Given the description of an element on the screen output the (x, y) to click on. 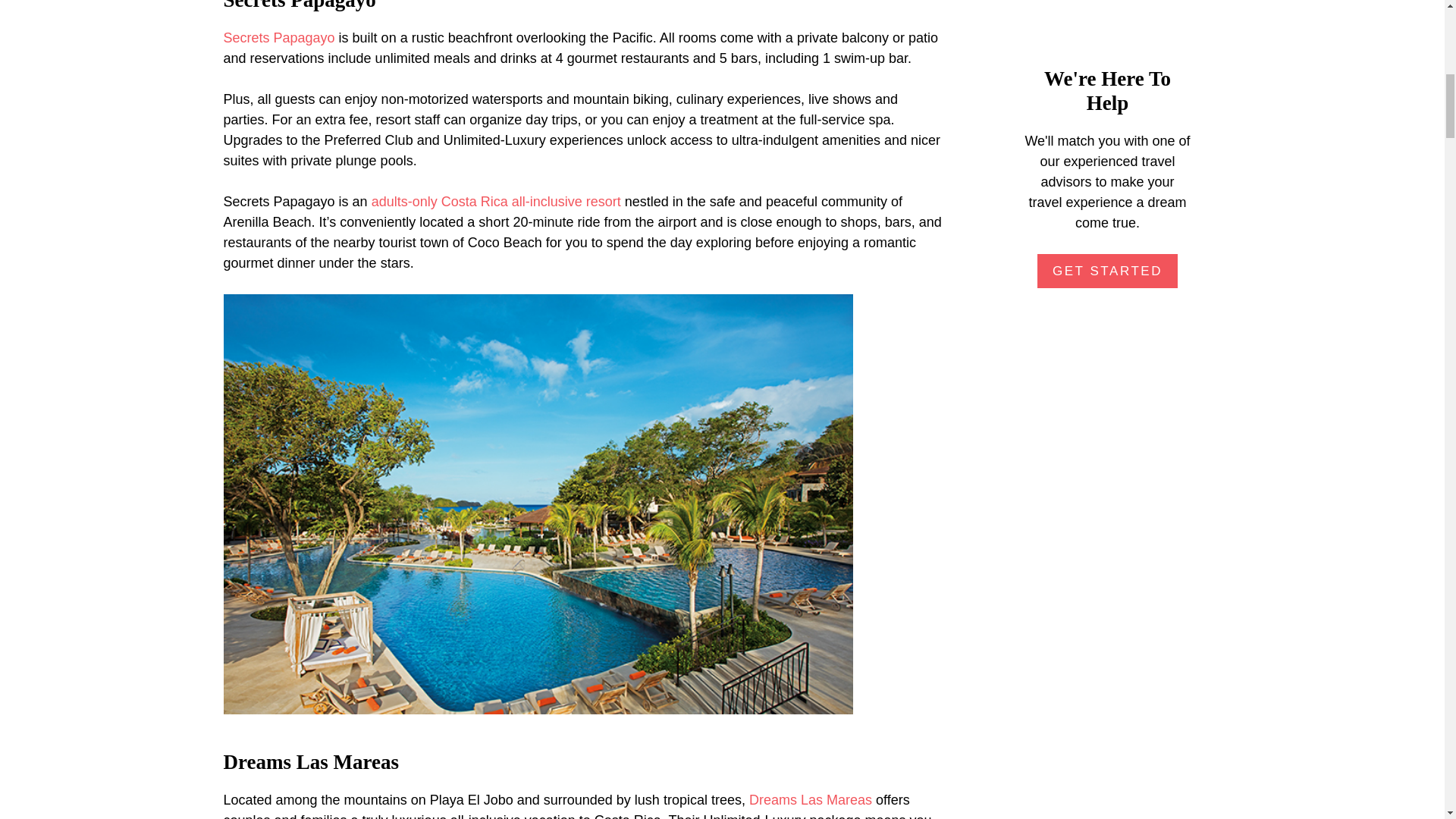
Scroll back to top (1406, 720)
